Given the description of an element on the screen output the (x, y) to click on. 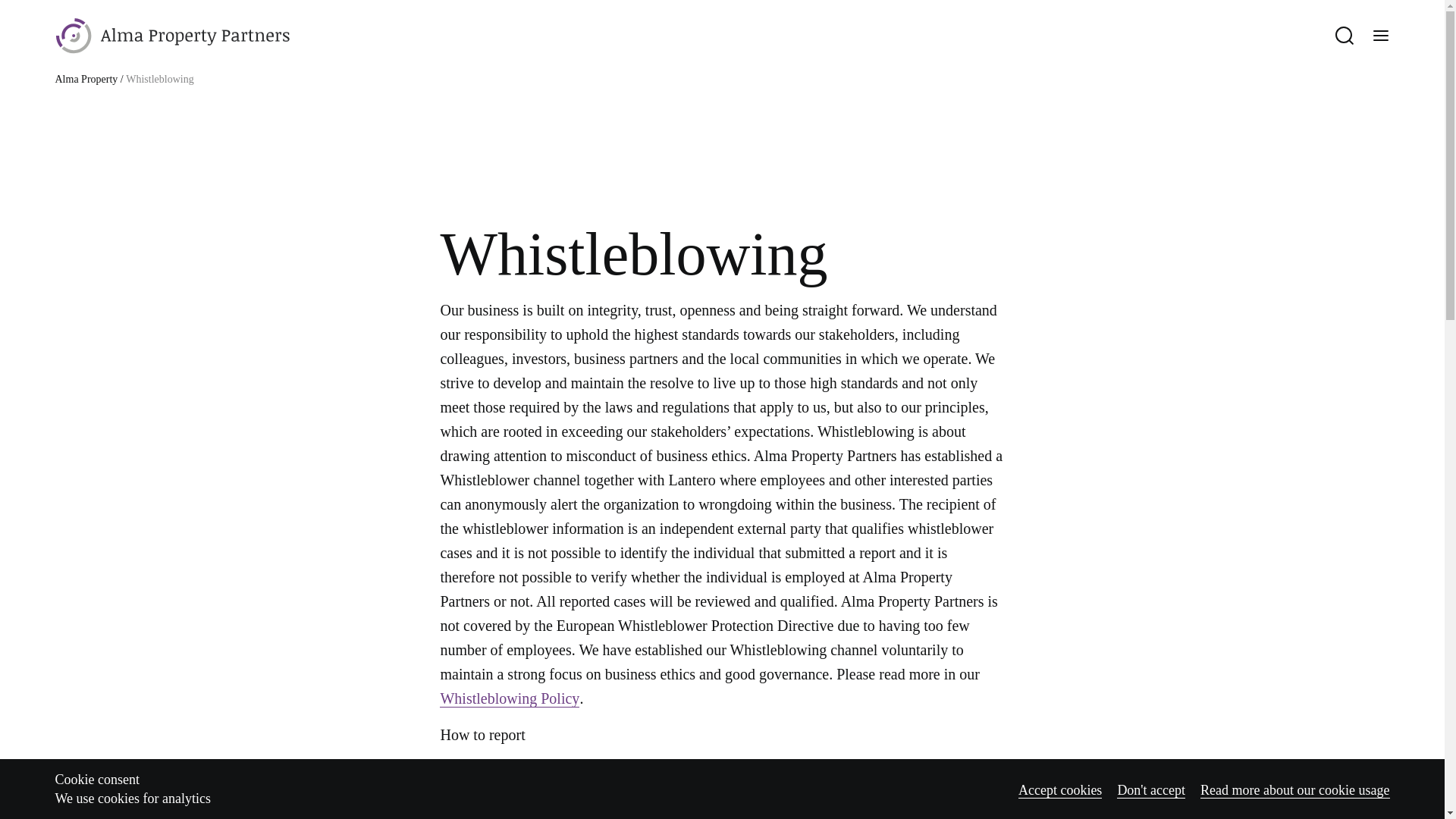
Accept cookies (1059, 790)
Alma Property (86, 79)
Whistleblowing Policy (509, 698)
Don't accept (1150, 790)
Read more about our cookie usage (1294, 790)
